Given the description of an element on the screen output the (x, y) to click on. 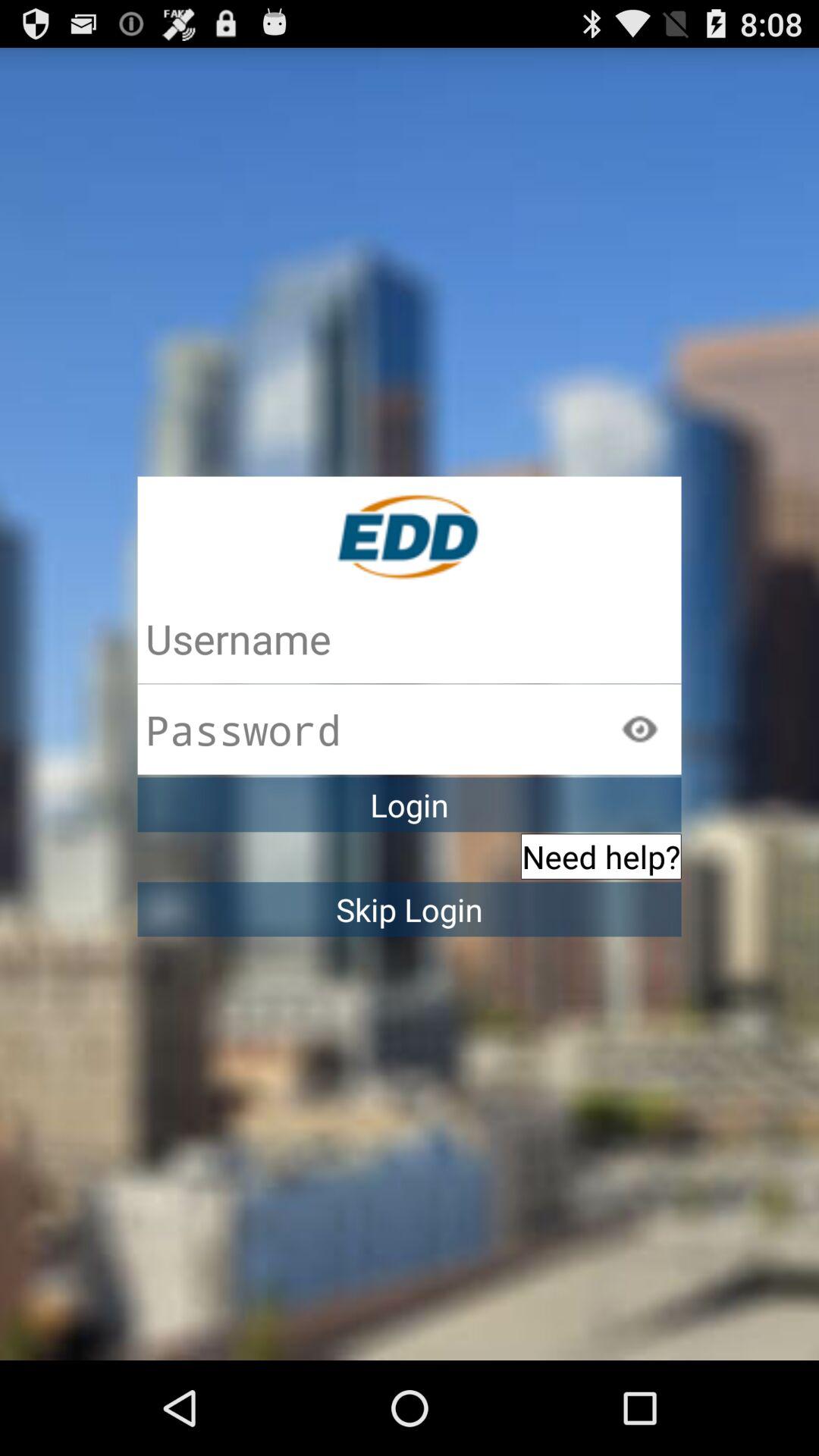
tap icon below need help? icon (409, 909)
